Given the description of an element on the screen output the (x, y) to click on. 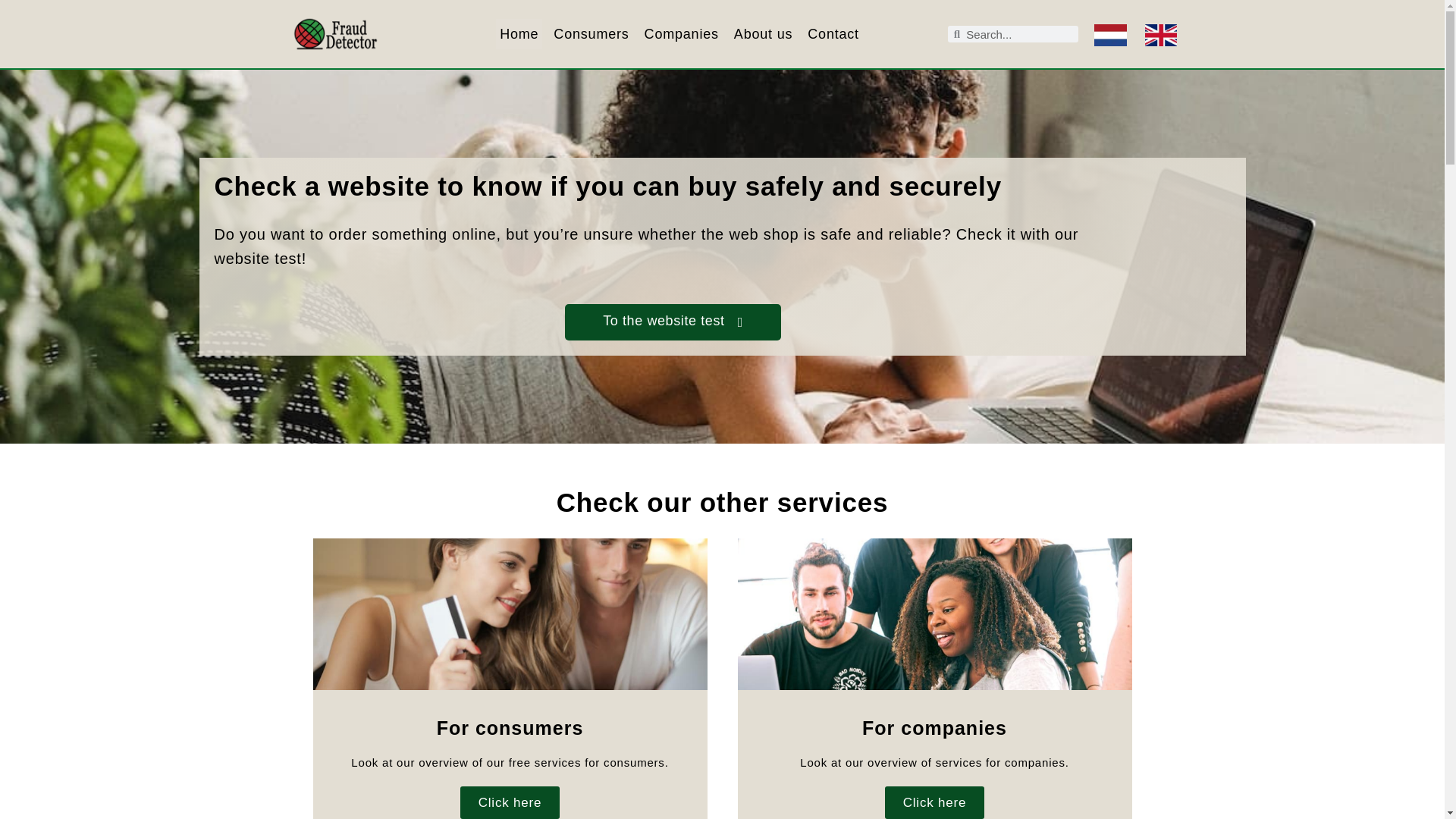
About us (763, 33)
Home (518, 33)
Contact (833, 33)
Consumers (590, 33)
Companies (681, 33)
